Given the description of an element on the screen output the (x, y) to click on. 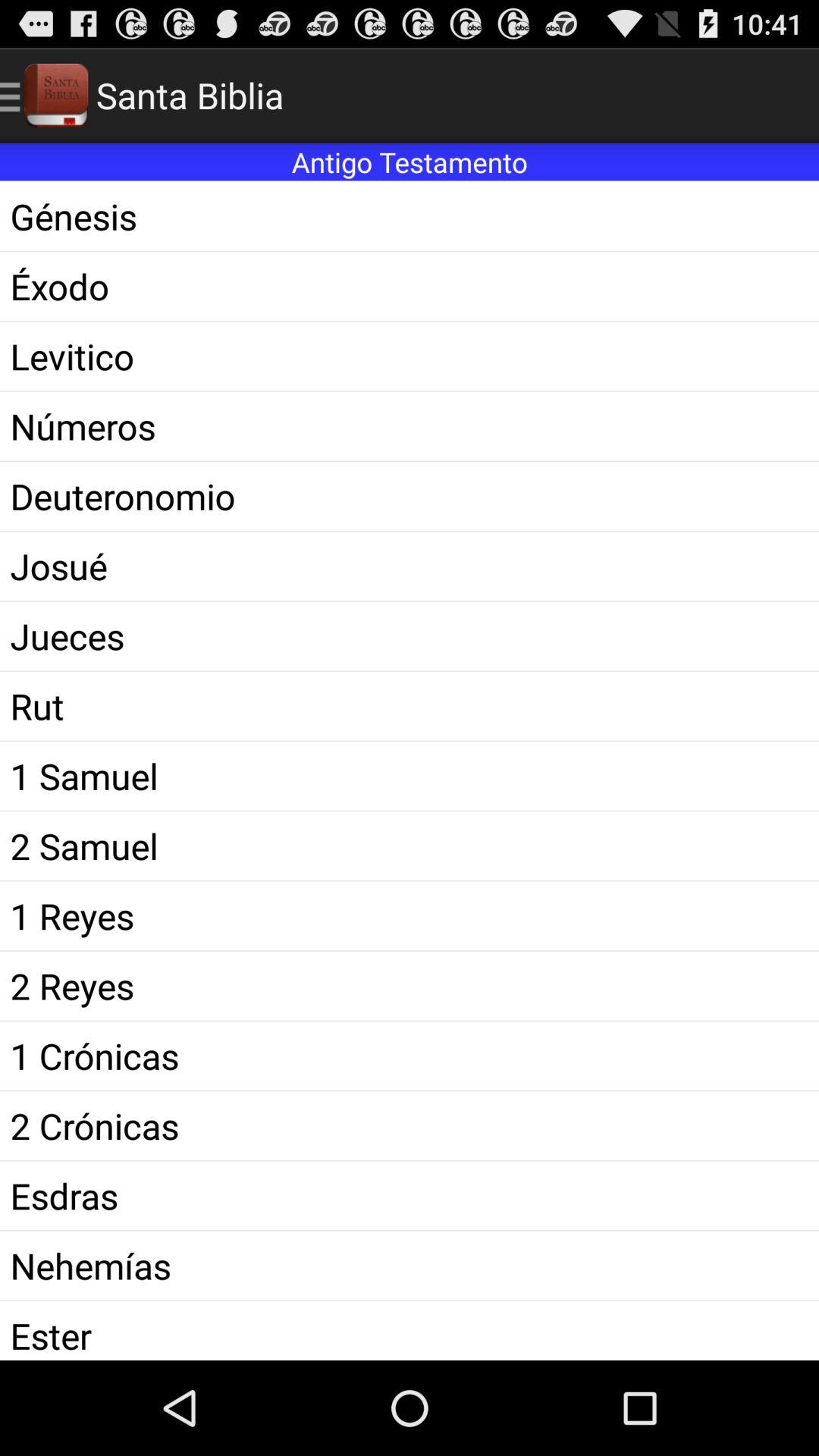
turn off icon above the rut (409, 635)
